Given the description of an element on the screen output the (x, y) to click on. 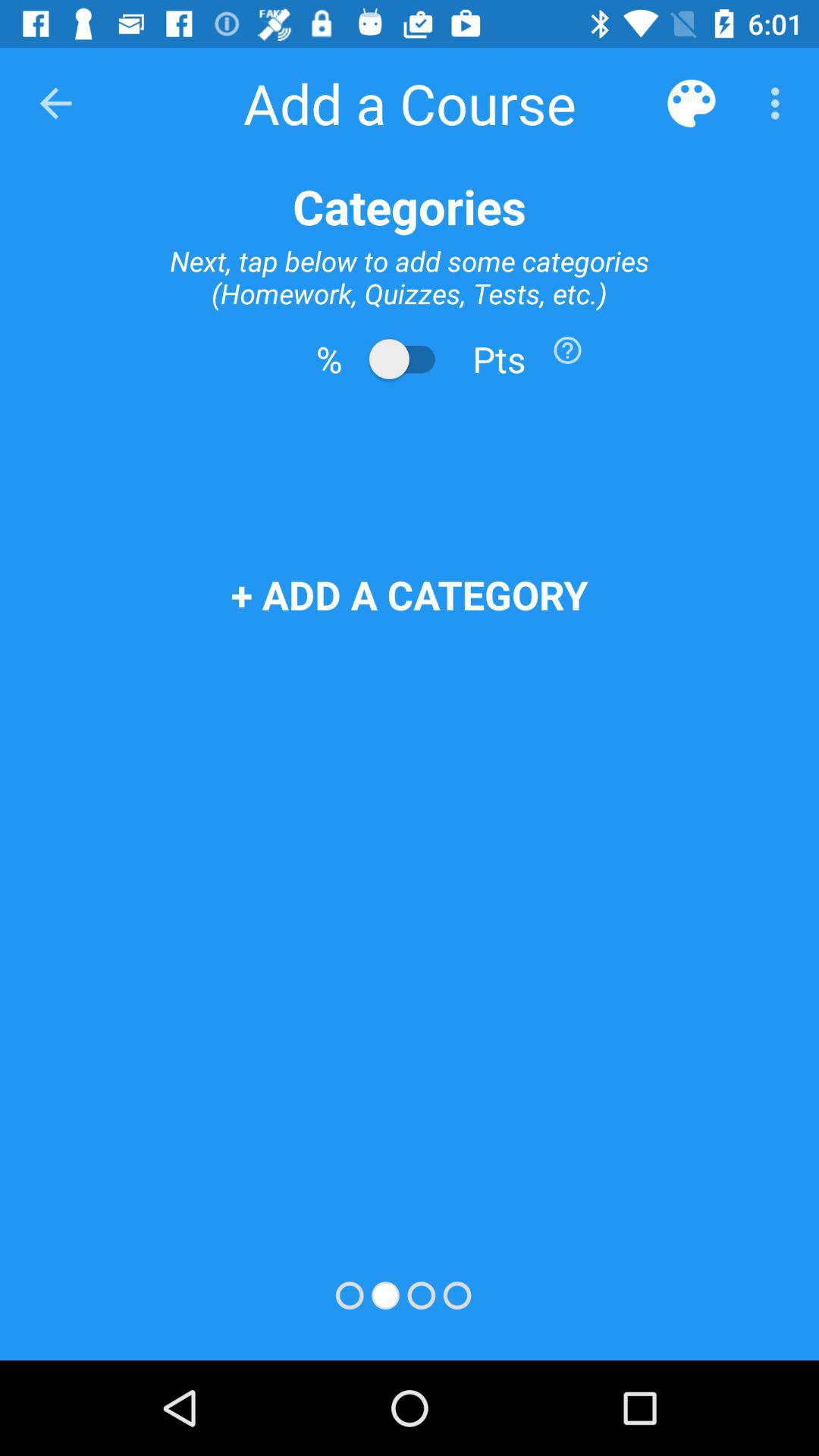
press the icon above the categories (55, 103)
